Given the description of an element on the screen output the (x, y) to click on. 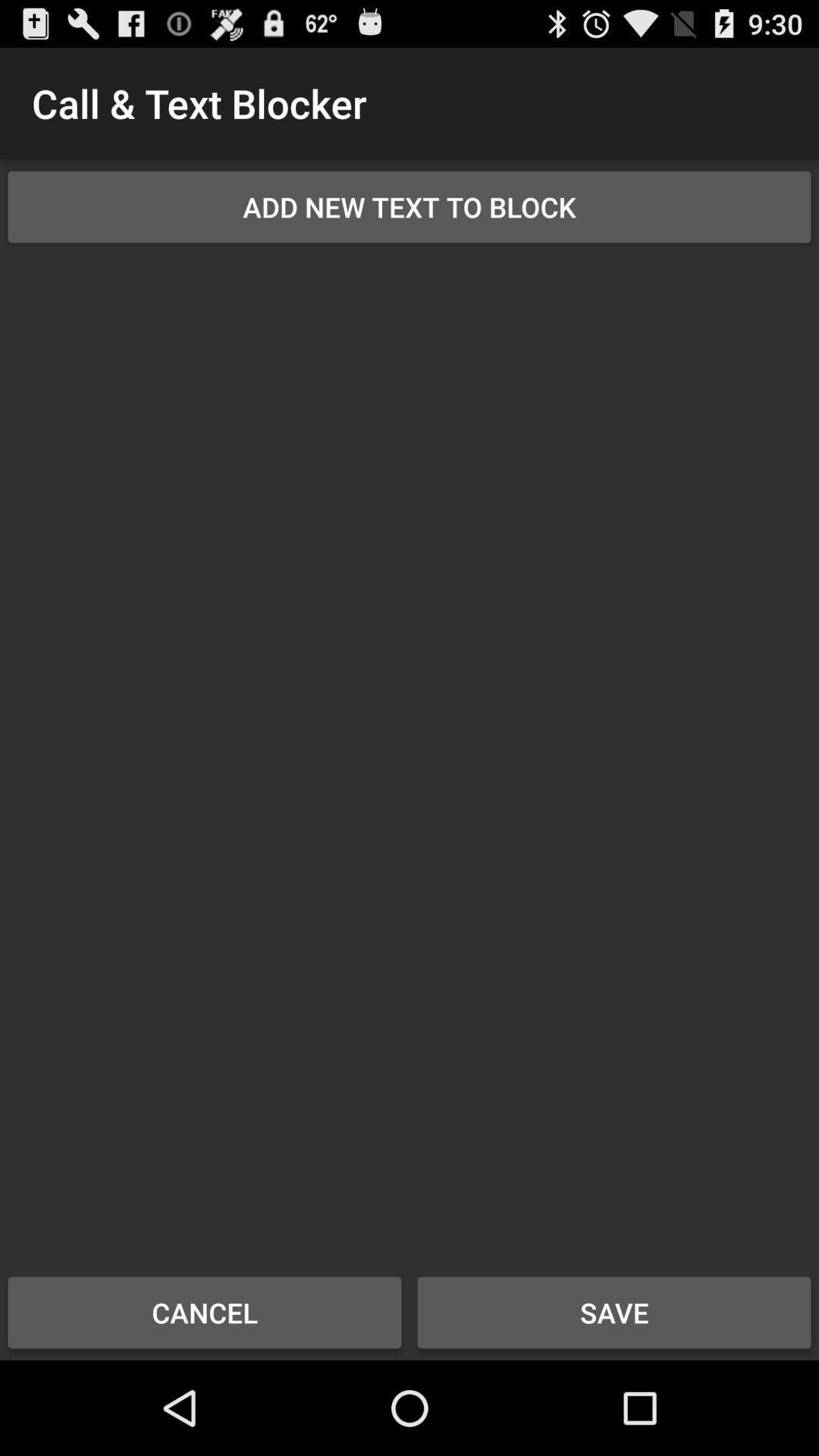
turn off item below call & text blocker icon (409, 206)
